Given the description of an element on the screen output the (x, y) to click on. 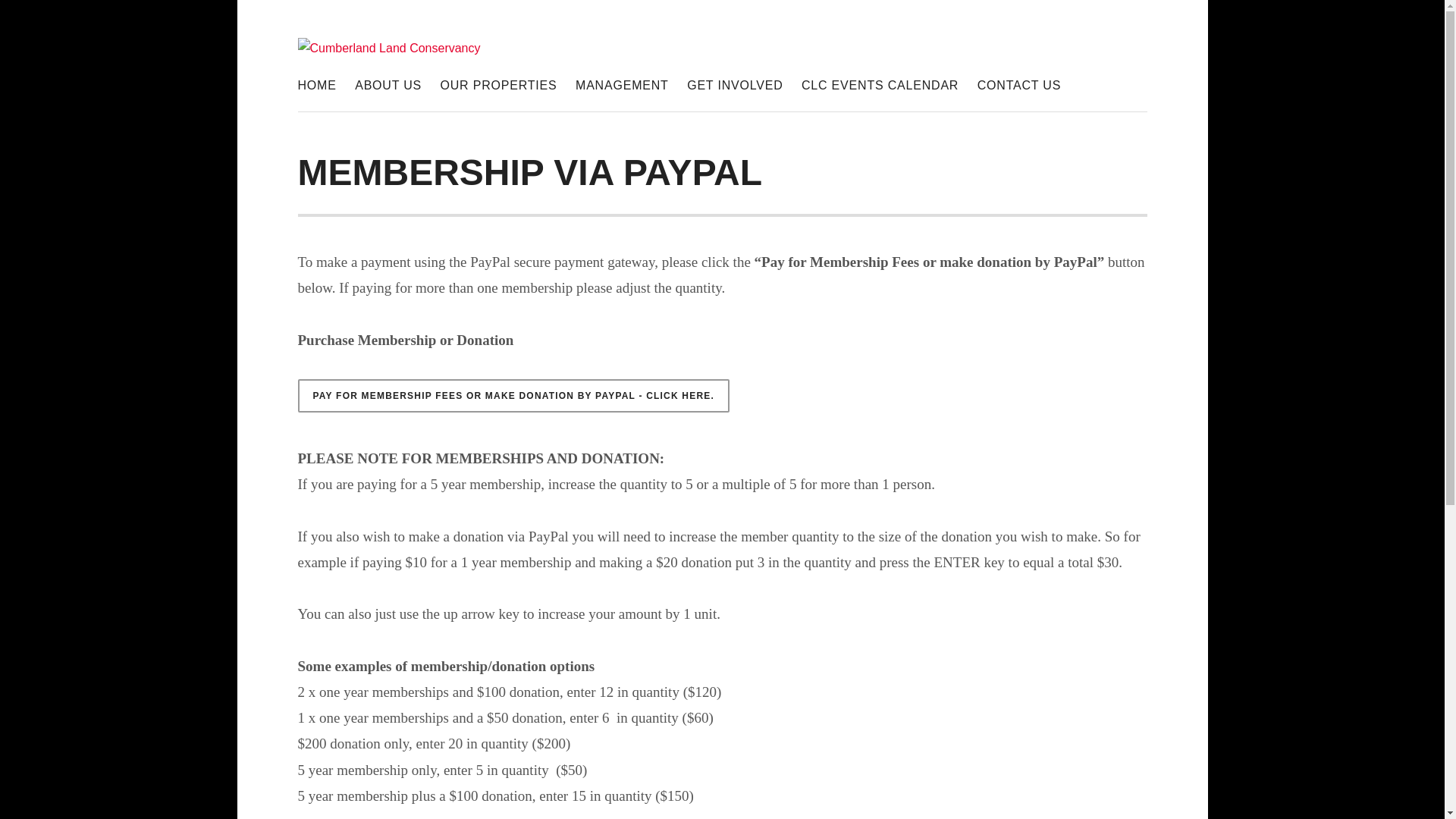
GET INVOLVED Element type: text (734, 85)
Search Element type: text (37, 16)
CUMBERLAND LAND CONSERVANCY Element type: text (628, 115)
MANAGEMENT Element type: text (621, 85)
OUR PROPERTIES Element type: text (498, 85)
ABOUT US Element type: text (387, 85)
CONTACT US Element type: text (1019, 85)
HOME Element type: text (316, 85)
CLC EVENTS CALENDAR Element type: text (879, 85)
